Given the description of an element on the screen output the (x, y) to click on. 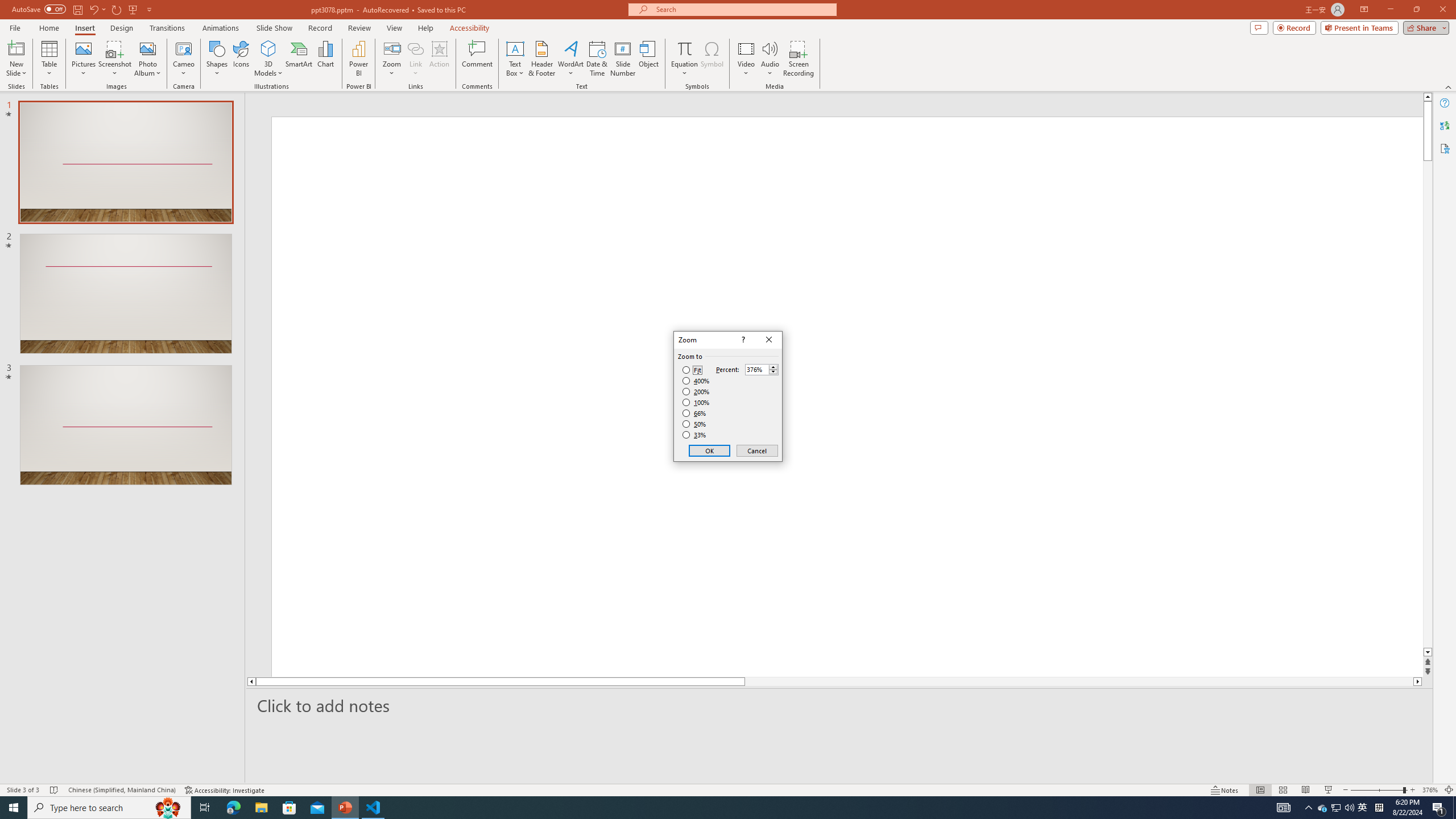
Table (49, 58)
Object... (649, 58)
66% (694, 412)
Video (745, 58)
